Given the description of an element on the screen output the (x, y) to click on. 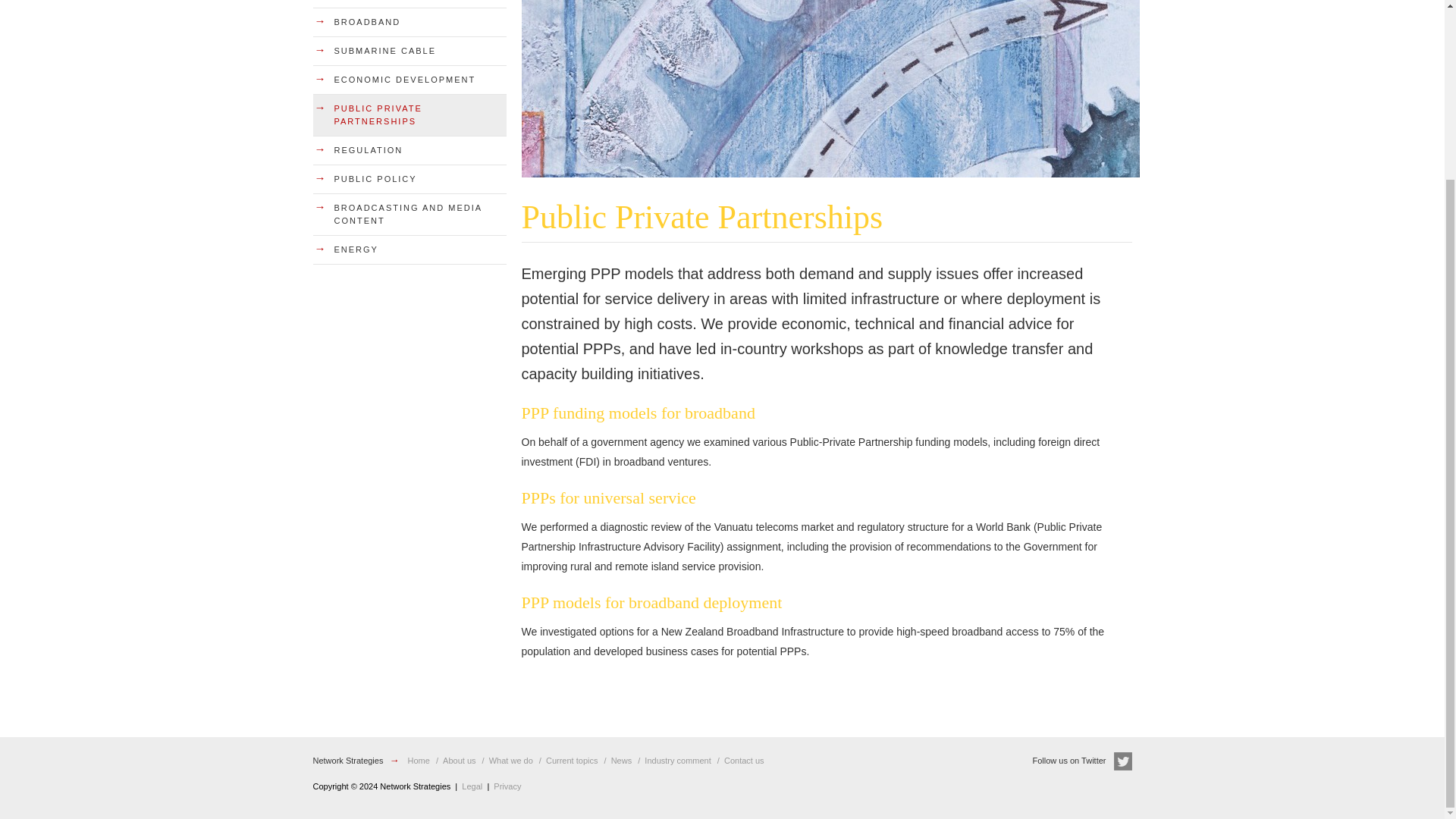
Contact us (743, 759)
Go to the Public policy page (409, 179)
Go to the Public Private Partnerships page (409, 115)
Privacy (507, 786)
Go to the Broadband page (409, 22)
Industry comment (677, 759)
Go to the Mobile page (409, 3)
Current topics (571, 759)
What we do (510, 759)
Home (418, 759)
